Given the description of an element on the screen output the (x, y) to click on. 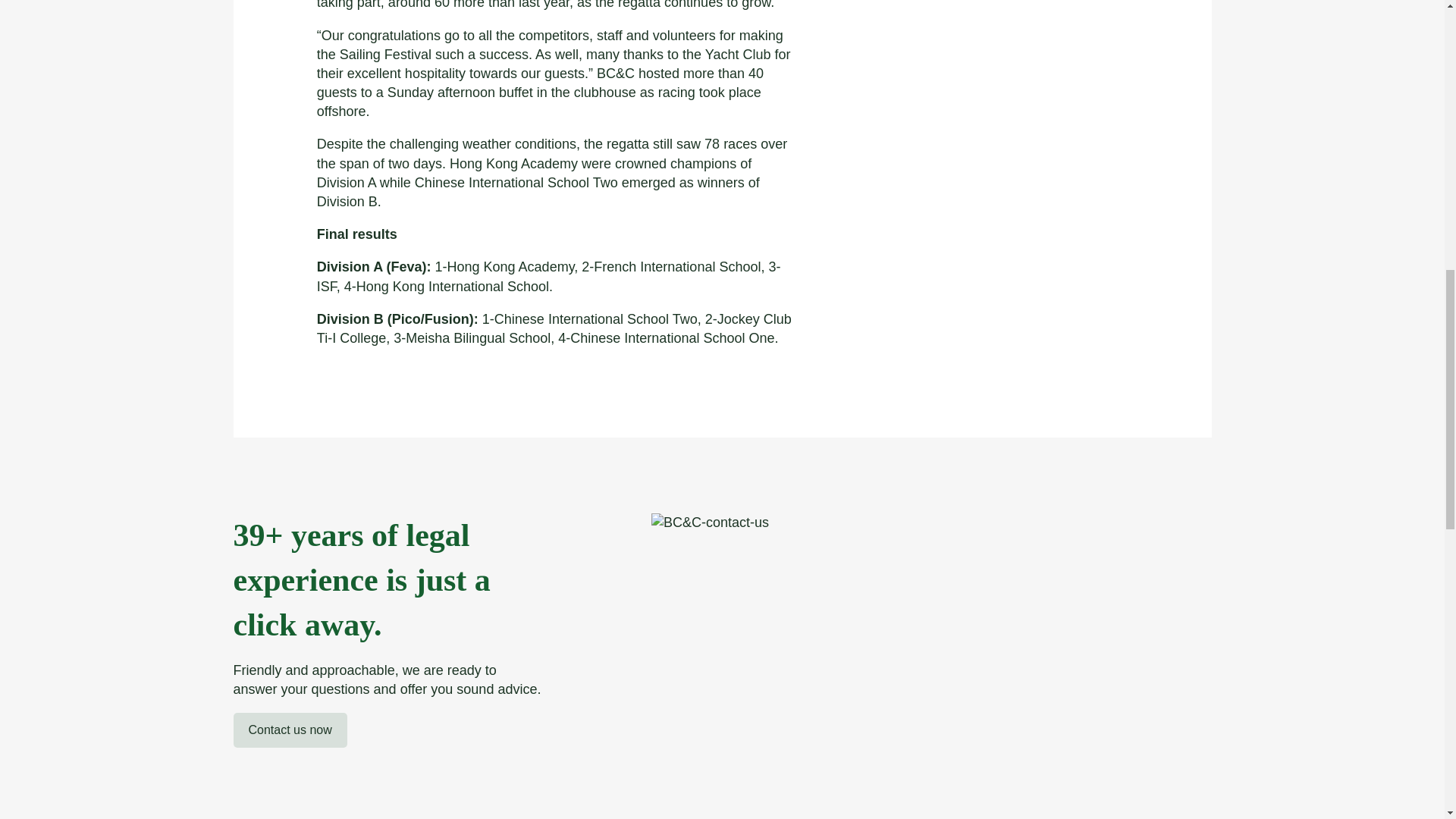
Contact us now (289, 729)
